Given the description of an element on the screen output the (x, y) to click on. 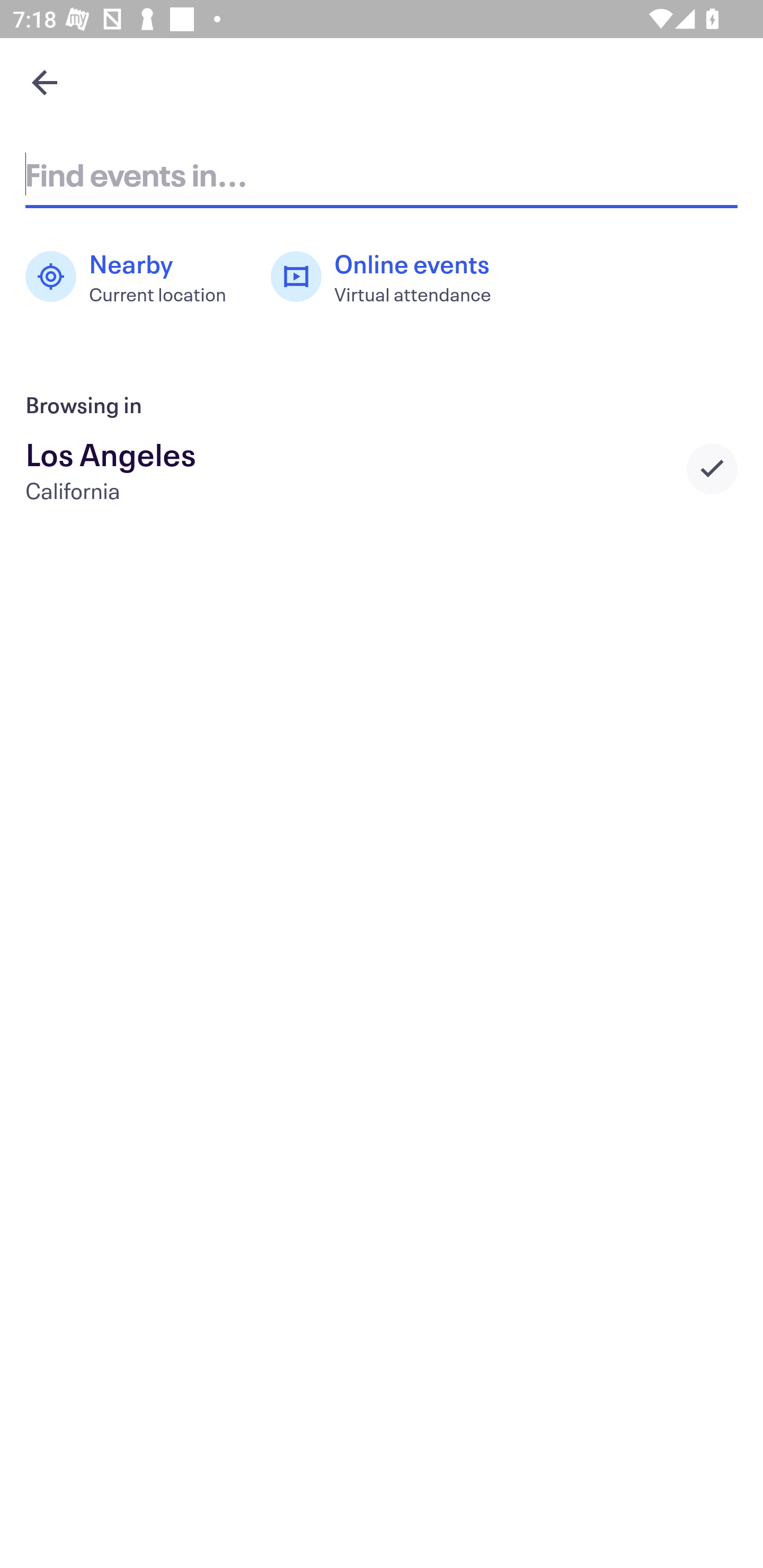
Navigate up (44, 82)
Find events in... (381, 173)
Nearby Current location (135, 276)
Online events Virtual attendance (390, 276)
Los Angeles California Selected city (381, 468)
